Given the description of an element on the screen output the (x, y) to click on. 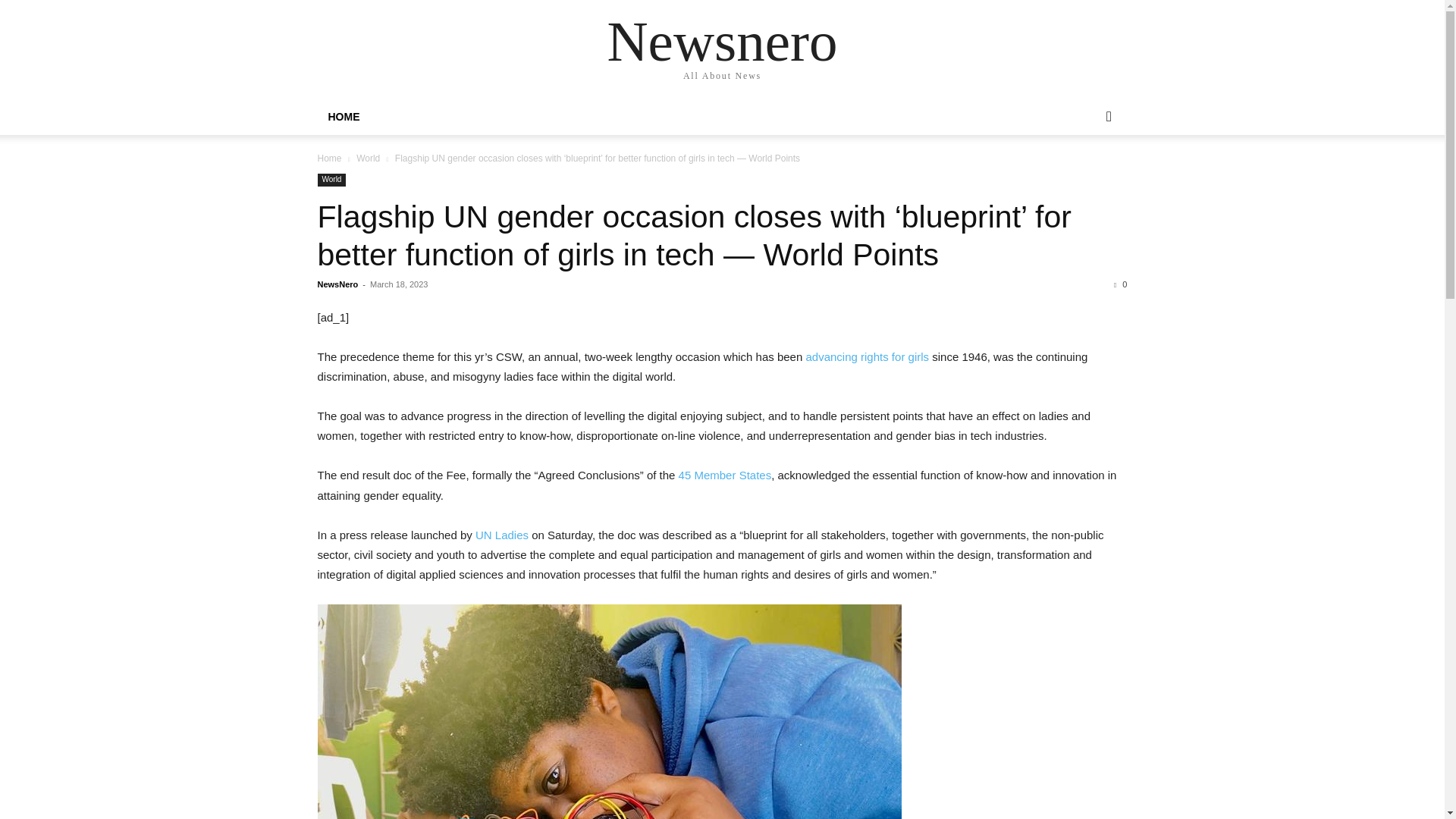
Home (328, 158)
0 (1119, 284)
45 Member States (724, 474)
View all posts in World (368, 158)
NewsNero (337, 284)
advancing rights for girls (866, 356)
Search (1085, 177)
A Brazilian scientist working on a robot in Rio de Janeiro (609, 711)
World (331, 179)
World (368, 158)
UN Ladies (502, 534)
HOME (343, 116)
Newsnero (722, 41)
